Given the description of an element on the screen output the (x, y) to click on. 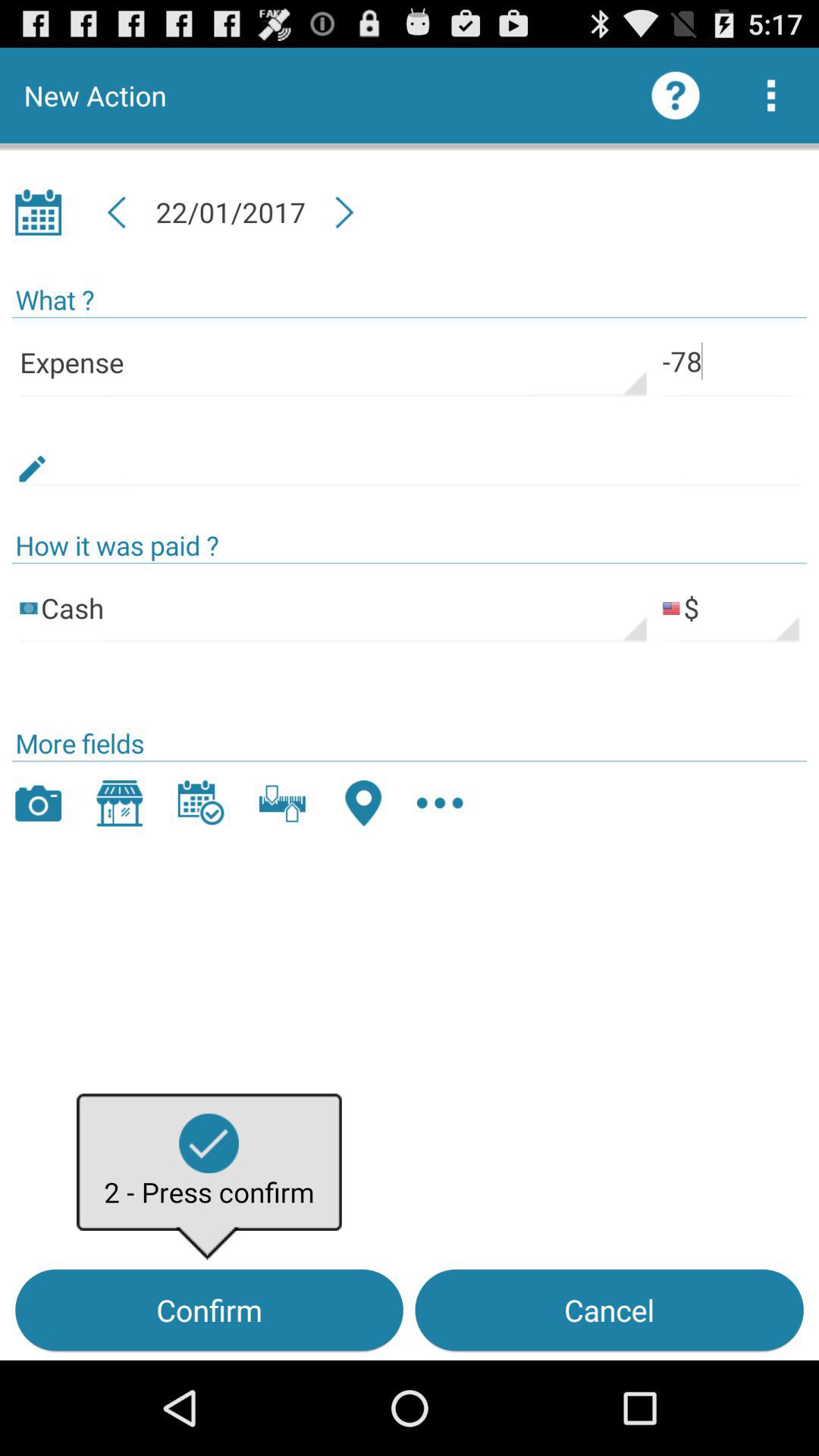
compose a message (409, 451)
